Given the description of an element on the screen output the (x, y) to click on. 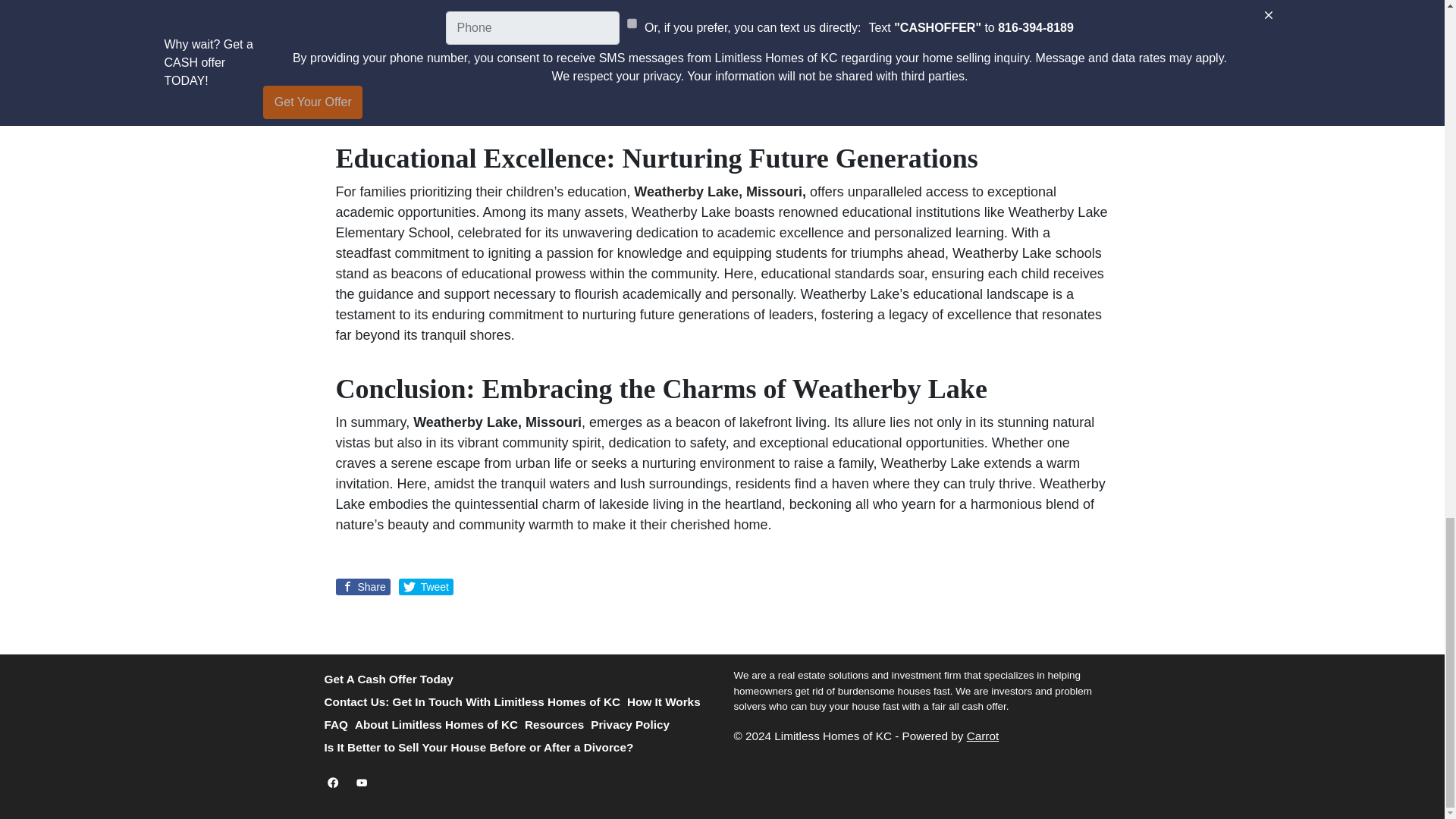
Facebook (333, 782)
Privacy Policy (634, 725)
How It Works (667, 702)
Contact Us: Get In Touch With Limitless Homes of KC (475, 702)
Is It Better to Sell Your House Before or After a Divorce? (482, 748)
Carrot (982, 735)
Share (362, 586)
FAQ (339, 725)
Share on Facebook (362, 586)
YouTube (361, 782)
